Given the description of an element on the screen output the (x, y) to click on. 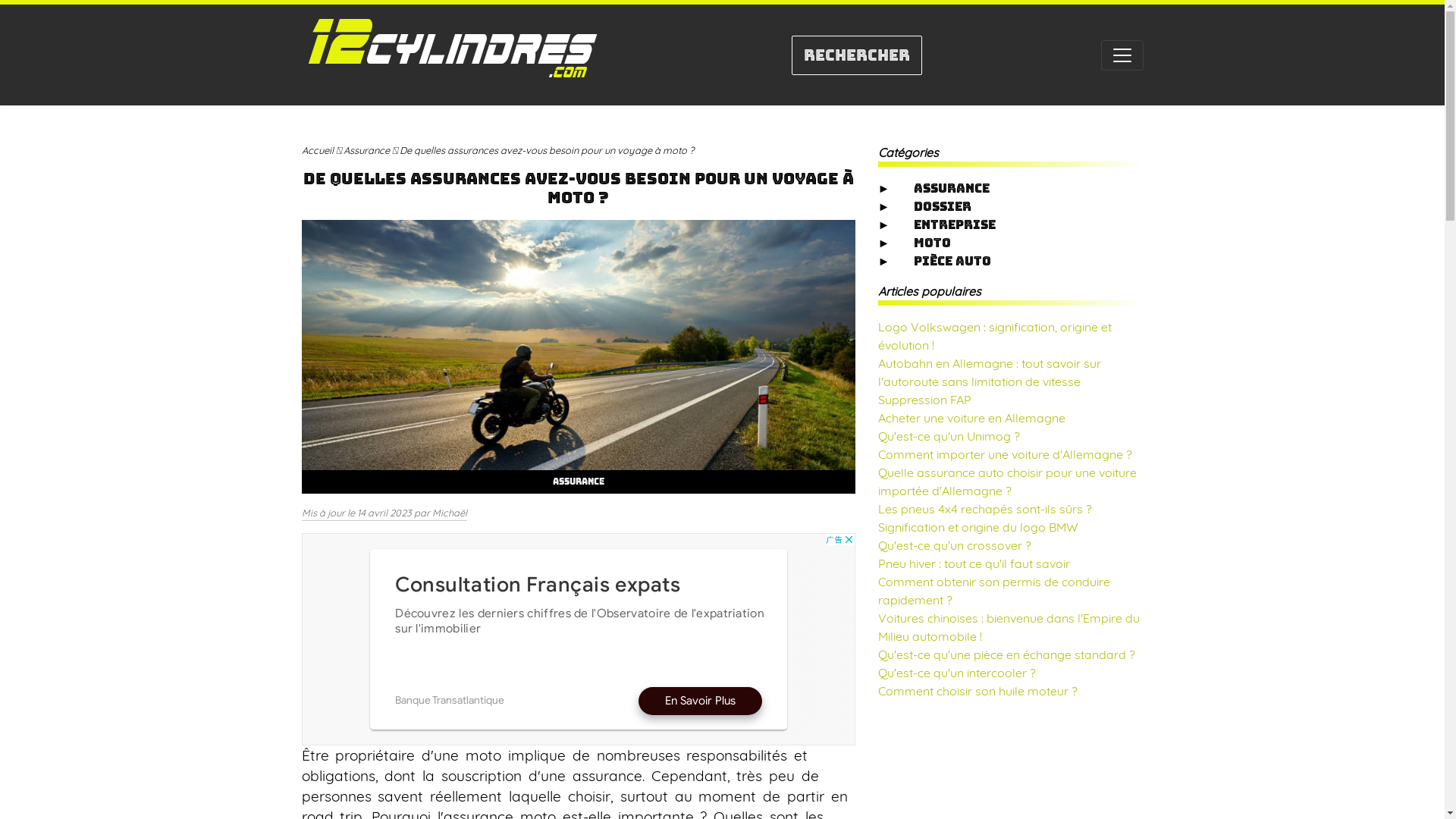
Comment obtenir son permis de conduire rapidement ? Element type: text (994, 590)
Dossier Element type: text (942, 206)
Advertisement Element type: hover (578, 639)
Acheter une voiture en Allemagne Element type: text (971, 417)
Qu'est-ce qu'un intercooler ? Element type: text (956, 672)
Comment choisir son huile moteur ? Element type: text (977, 690)
Comment importer une voiture d'Allemagne ? Element type: text (1005, 453)
Qu'est-ce qu'un crossover ? Element type: text (954, 544)
Entreprise Element type: text (954, 224)
Assurance Element type: text (951, 188)
Assurance Element type: text (577, 481)
Pneu hiver : tout ce qu'il faut savoir Element type: text (974, 563)
Suppression FAP Element type: text (924, 399)
Accueil Element type: text (317, 150)
Assurance Element type: text (365, 150)
Moto Element type: text (931, 242)
Signification et origine du logo BMW Element type: text (977, 526)
Rechercher Element type: text (856, 54)
Qu'est-ce qu'un Unimog ? Element type: text (948, 435)
